Given the description of an element on the screen output the (x, y) to click on. 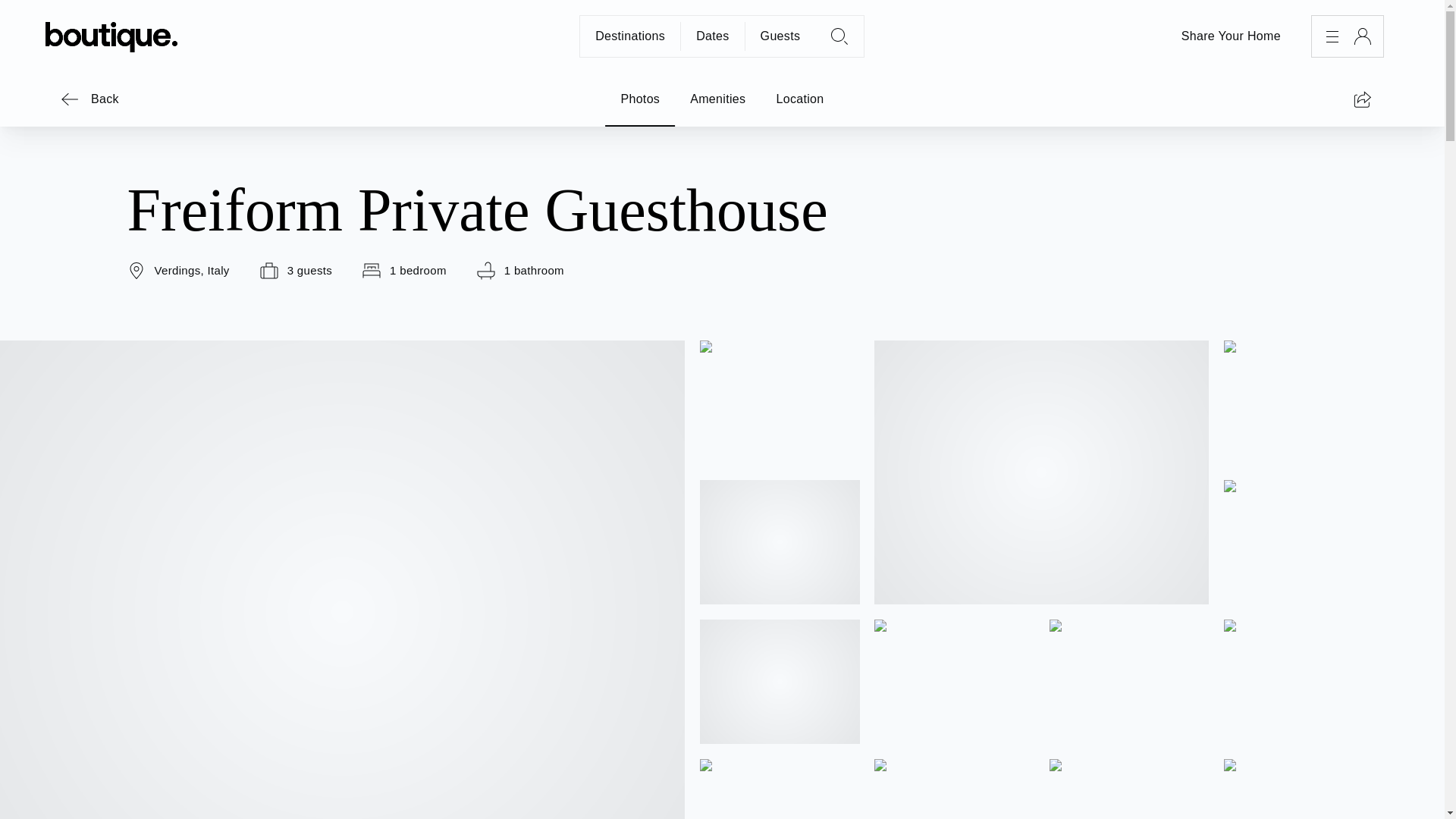
Share Your Home (1230, 36)
Back (90, 99)
Amenities (717, 99)
Location (799, 99)
Photos (640, 99)
